Given the description of an element on the screen output the (x, y) to click on. 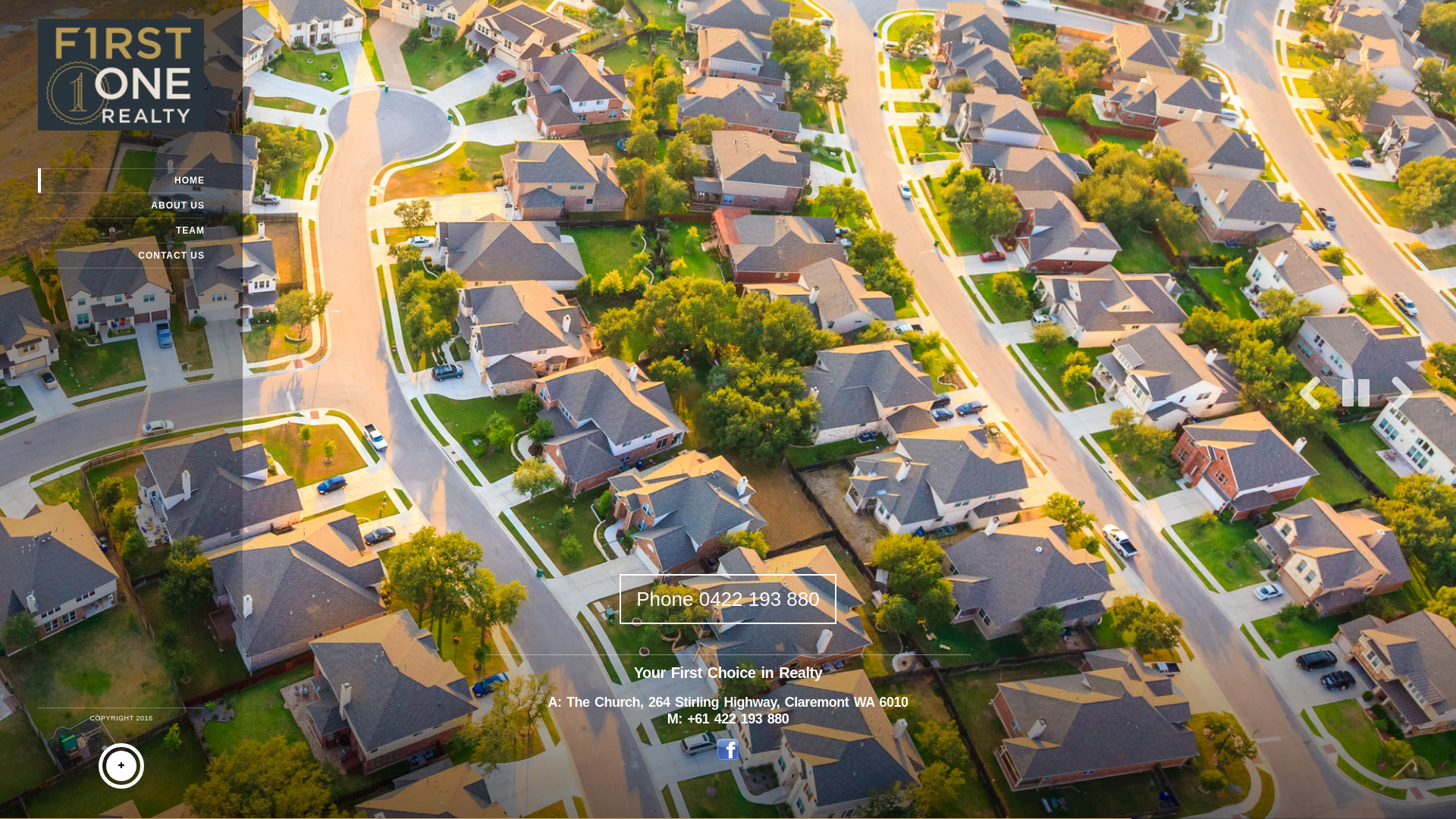
TEAM Element type: text (120, 230)
ABOUT US Element type: text (120, 205)
Phone 0422 193 880 Element type: text (727, 599)
HOME Element type: text (120, 180)
CONTACT US Element type: text (120, 255)
